Given the description of an element on the screen output the (x, y) to click on. 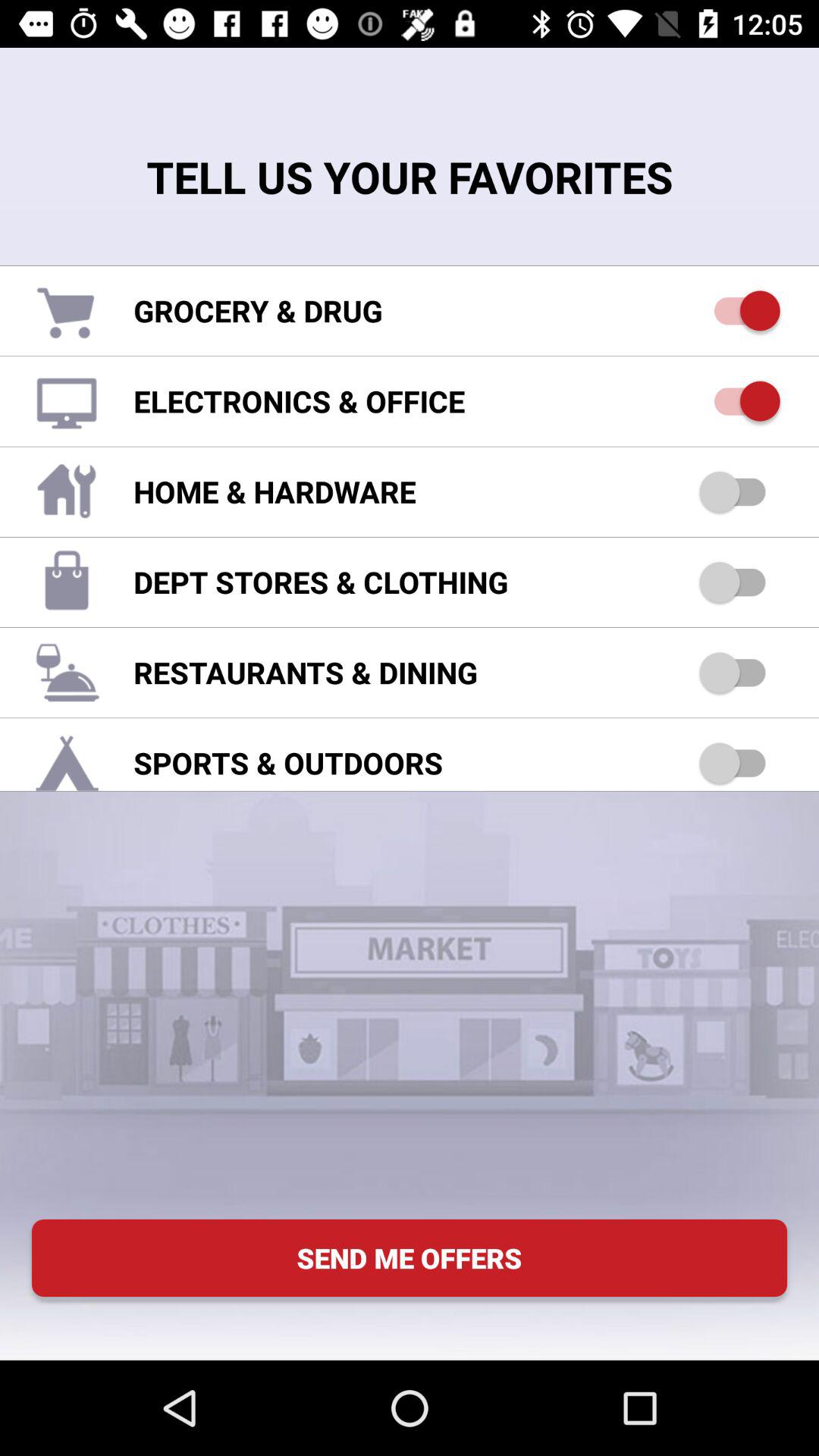
click on first switch button on right side (739, 310)
